Given the description of an element on the screen output the (x, y) to click on. 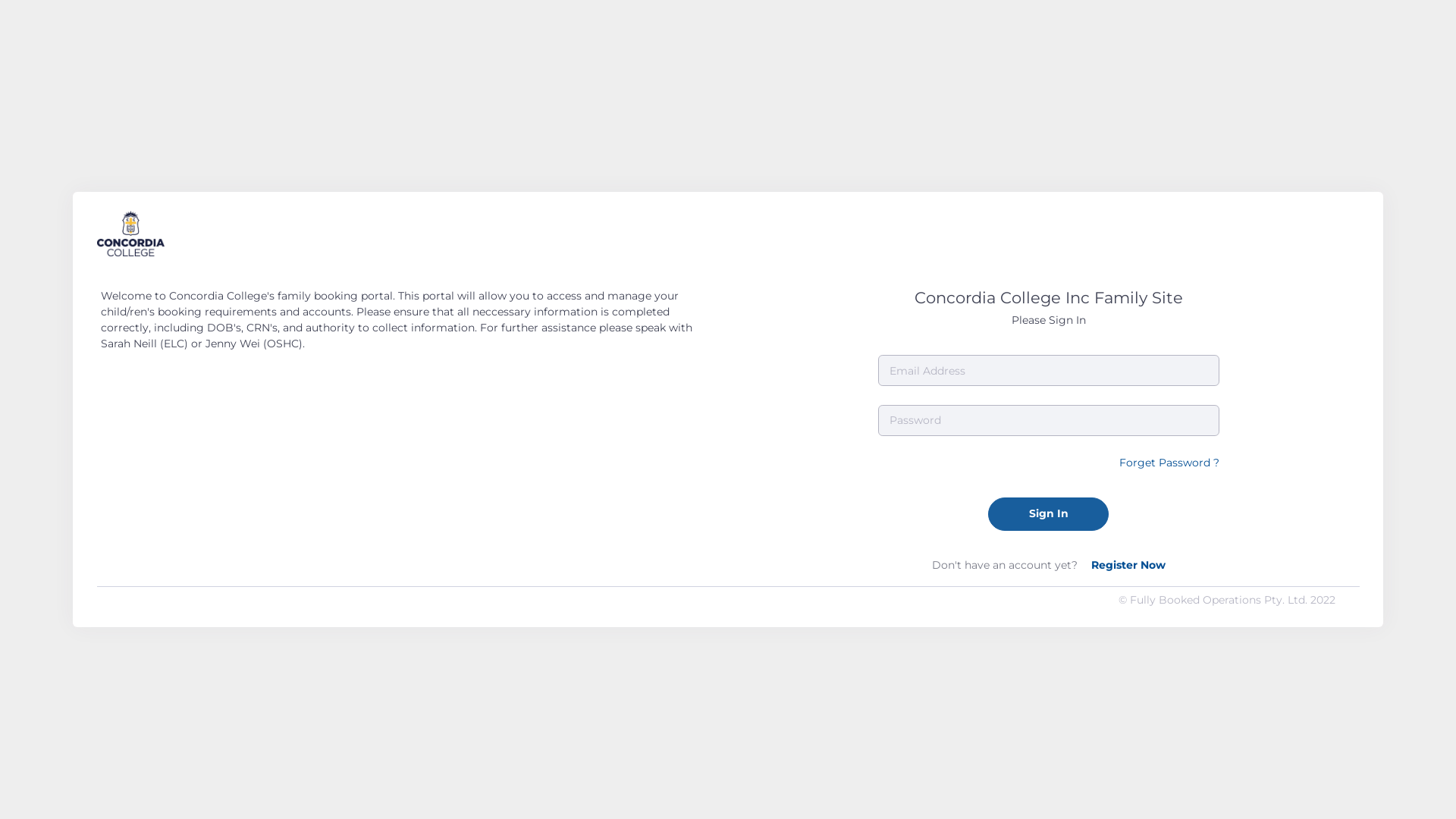
Register Now Element type: text (1127, 564)
Sign In Element type: text (1048, 513)
Forget Password ? Element type: text (1169, 462)
